Given the description of an element on the screen output the (x, y) to click on. 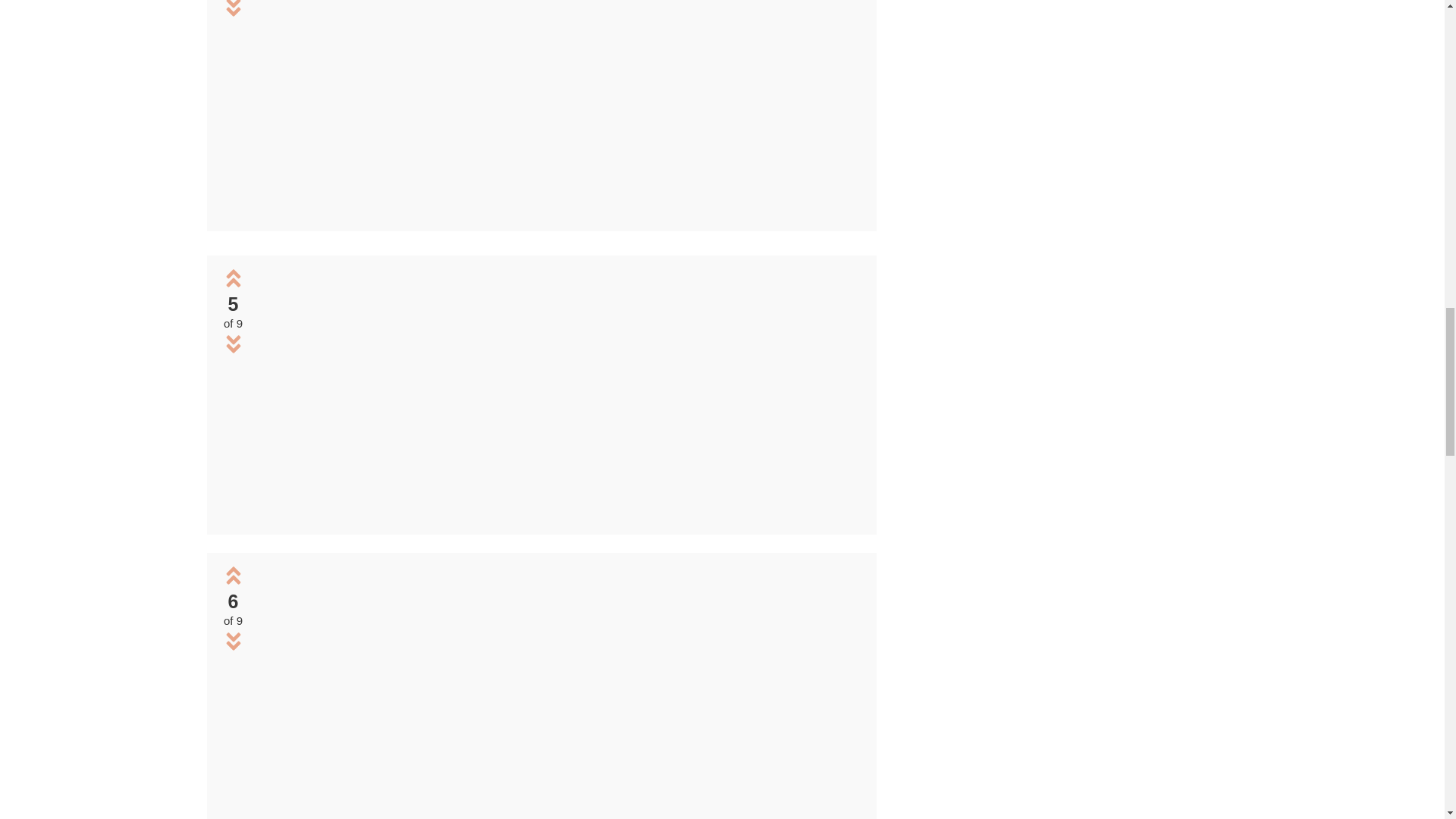
Pink Yellow Blue Neon Wedding Inspiration (558, 391)
Pink Yellow Blue Neon Wedding Inspiration (558, 107)
Pink Yellow Blue Neon Wedding Inspiration (558, 513)
Pink Yellow Blue Neon Wedding Inspiration (558, 689)
Pink Yellow Blue Neon Wedding Inspiration (558, 810)
Pink Yellow Blue Neon Wedding Inspiration (558, 210)
